Given the description of an element on the screen output the (x, y) to click on. 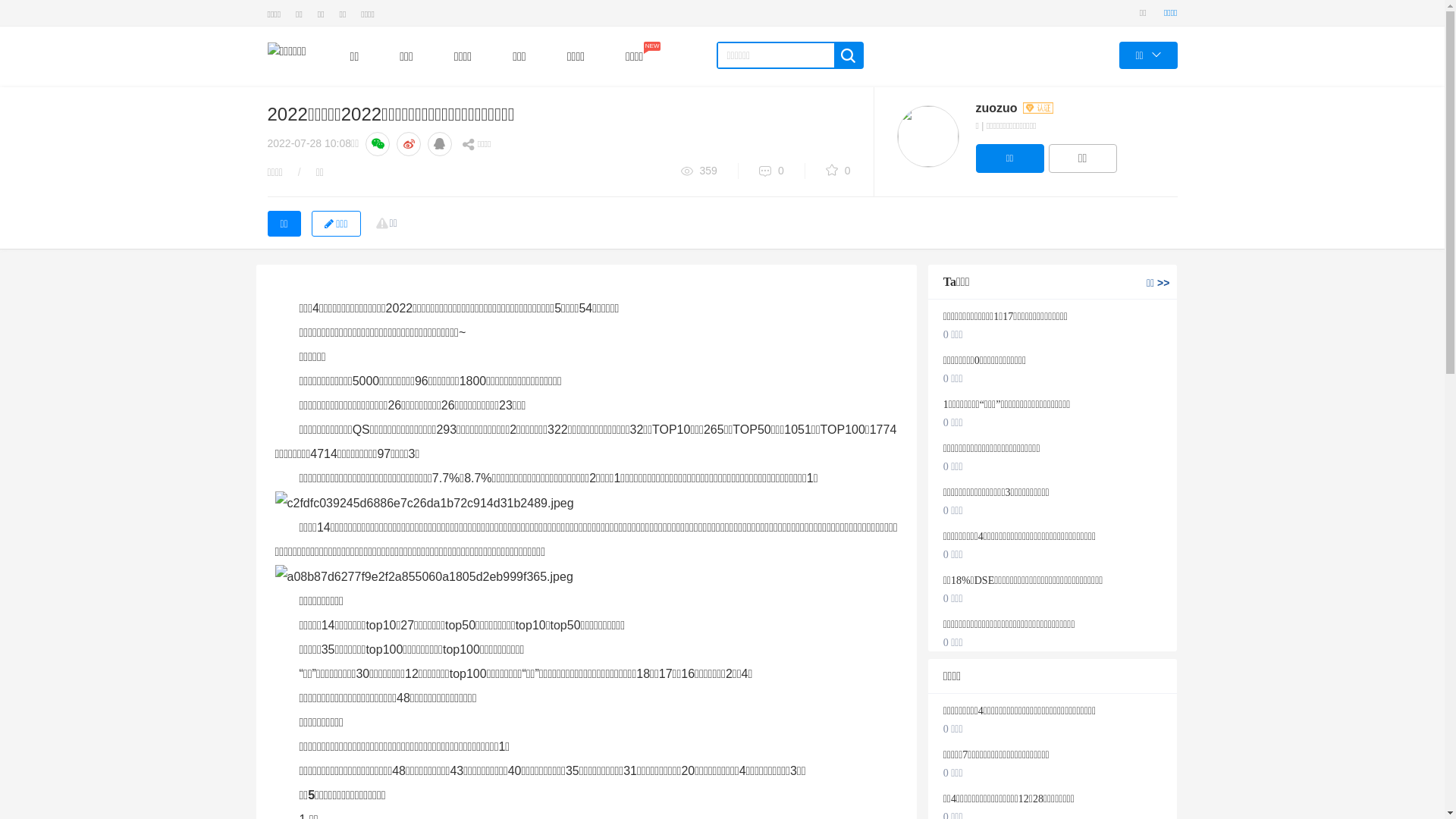
0 Element type: text (848, 170)
359 Element type: text (709, 170)
zuozuo Element type: text (1015, 107)
1658974079737528.jpeg Element type: hover (423, 503)
zuozuo Element type: hover (927, 136)
0 Element type: text (782, 170)
1658974101204734.jpeg Element type: hover (423, 576)
